Given the description of an element on the screen output the (x, y) to click on. 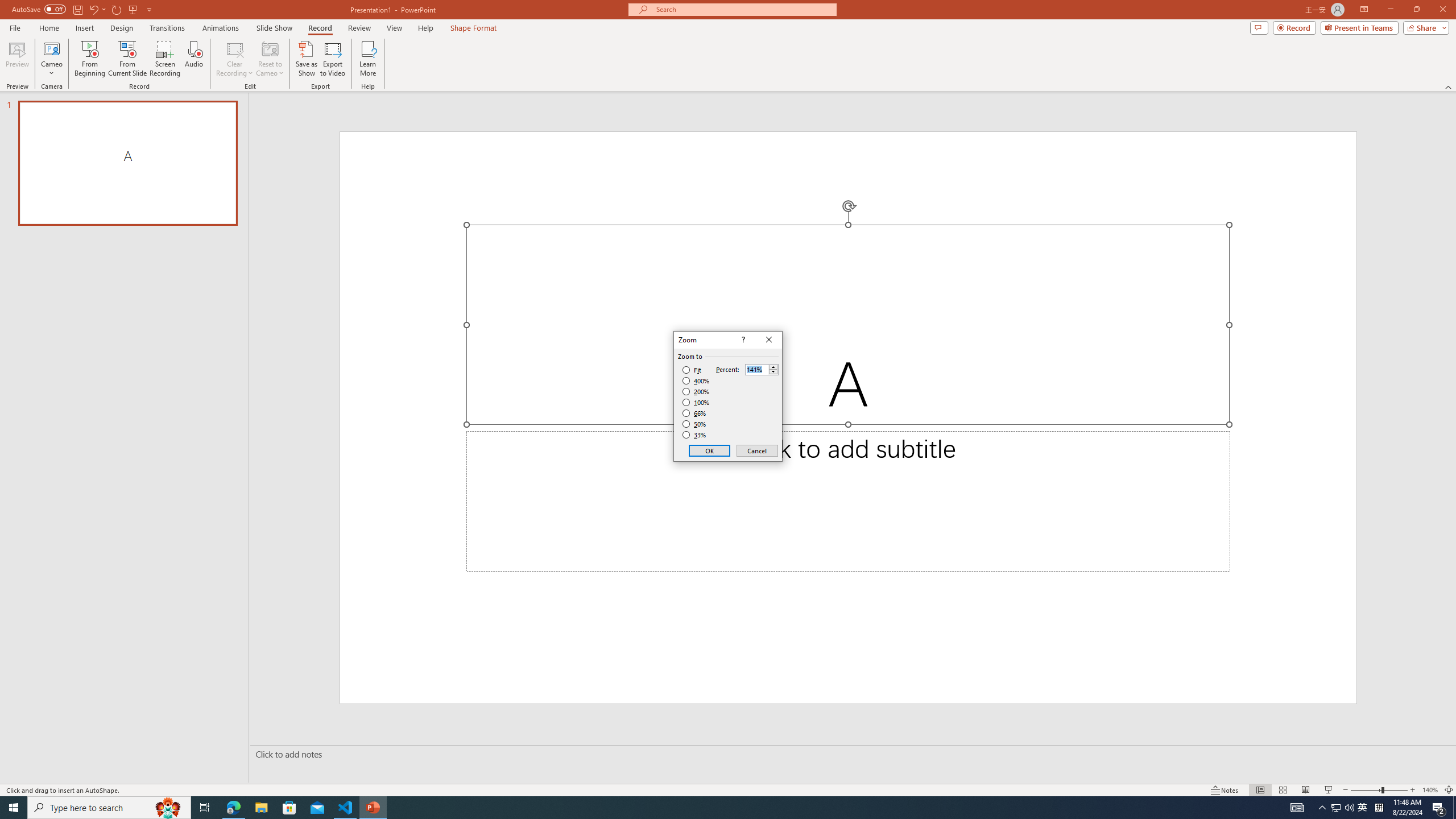
OK (709, 450)
